Given the description of an element on the screen output the (x, y) to click on. 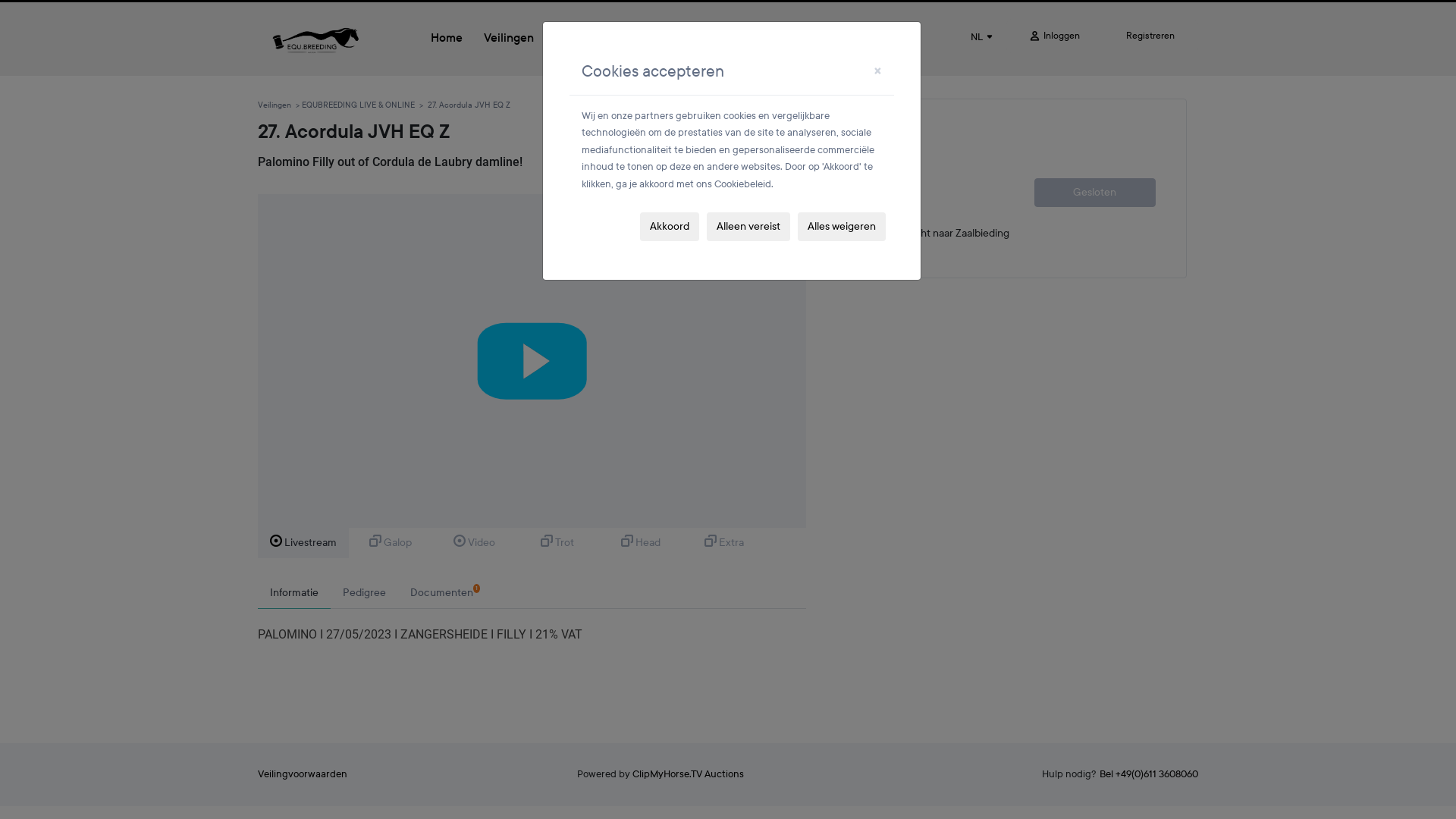
Head Element type: text (640, 542)
Over Element type: text (568, 38)
ClipMyHorse.TV Auctions Element type: text (687, 774)
Akkoord Element type: text (669, 226)
Informatie Element type: text (293, 592)
Pedigree Element type: text (364, 592)
Documenten
1 Element type: text (445, 592)
Contact Element type: text (624, 38)
Alles weigeren Element type: text (841, 226)
Inloggen Element type: text (1054, 35)
NL Element type: text (980, 37)
Livestream Element type: text (302, 542)
Bel +49(0)611 3608060 Element type: text (1148, 774)
Galop Element type: text (390, 542)
Alleen vereist Element type: text (748, 226)
Trot Element type: text (557, 542)
EQUBREEDING LIVE & ONLINE Element type: text (357, 104)
Veilingen Element type: text (508, 38)
Home Element type: text (446, 38)
Registreren Element type: text (1150, 35)
Veilingvoorwaarden Element type: text (302, 774)
Veilingen Element type: text (274, 104)
Video Element type: text (473, 542)
Gesloten Element type: text (1094, 191)
Media element Element type: hover (531, 360)
Extra Element type: text (723, 542)
